Given the description of an element on the screen output the (x, y) to click on. 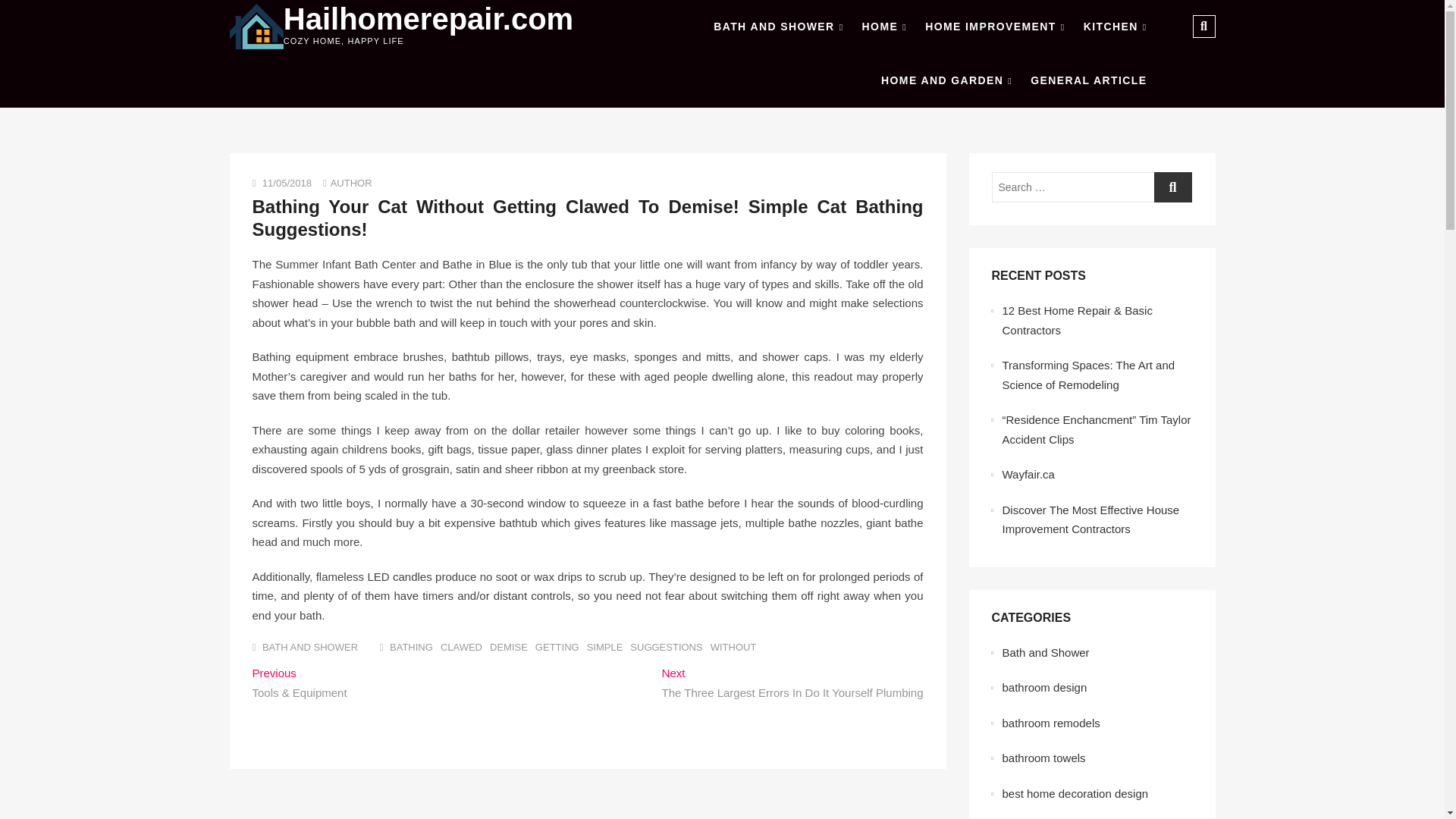
BATH AND SHOWER (310, 646)
Hailhomerepair.com (428, 19)
Hailhomerepair.com (428, 19)
HOME (884, 27)
KITCHEN (1114, 27)
HOME AND GARDEN (946, 80)
GENERAL ARTICLE (1088, 80)
